Given the description of an element on the screen output the (x, y) to click on. 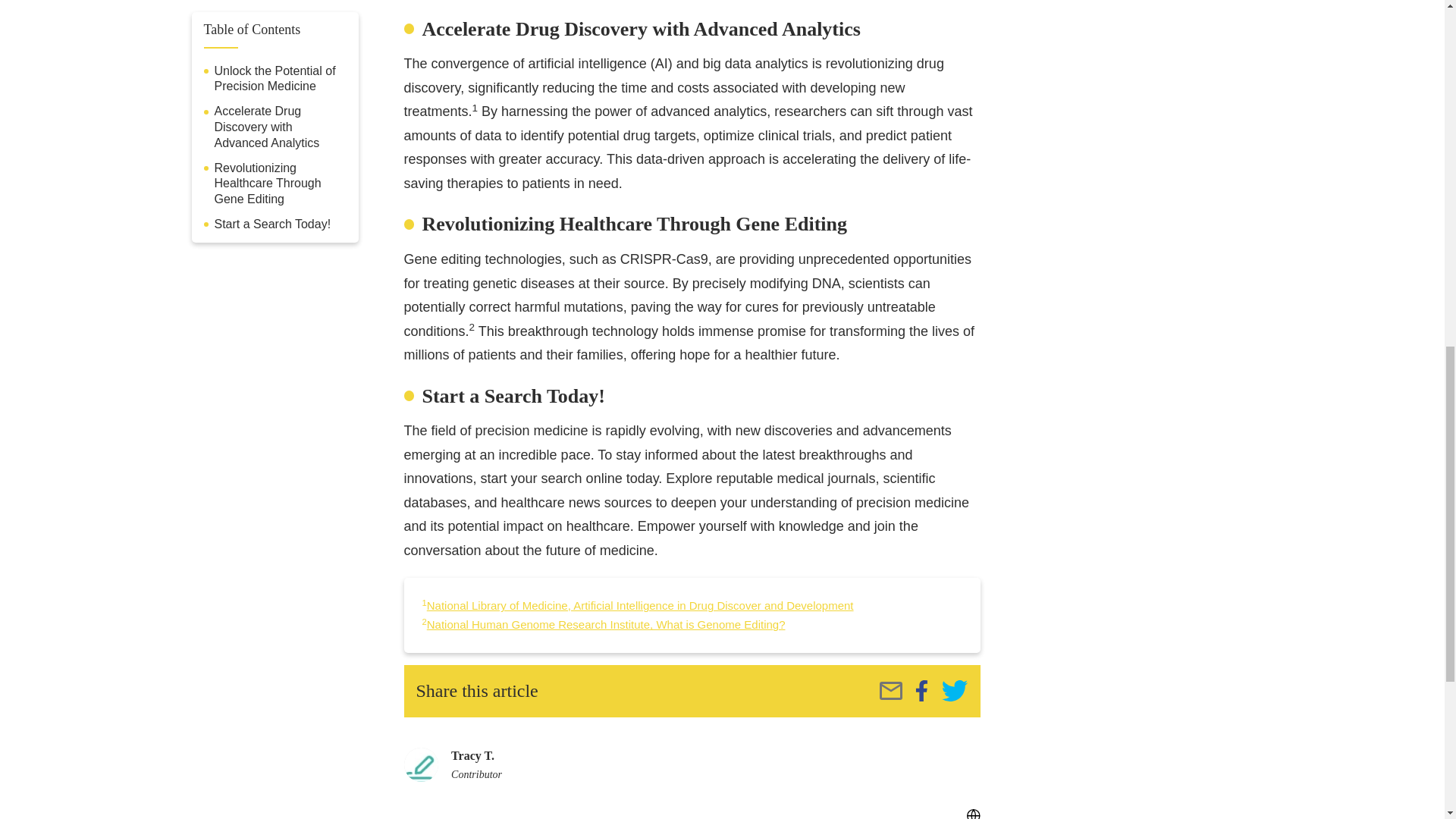
Share by Email (890, 690)
